Given the description of an element on the screen output the (x, y) to click on. 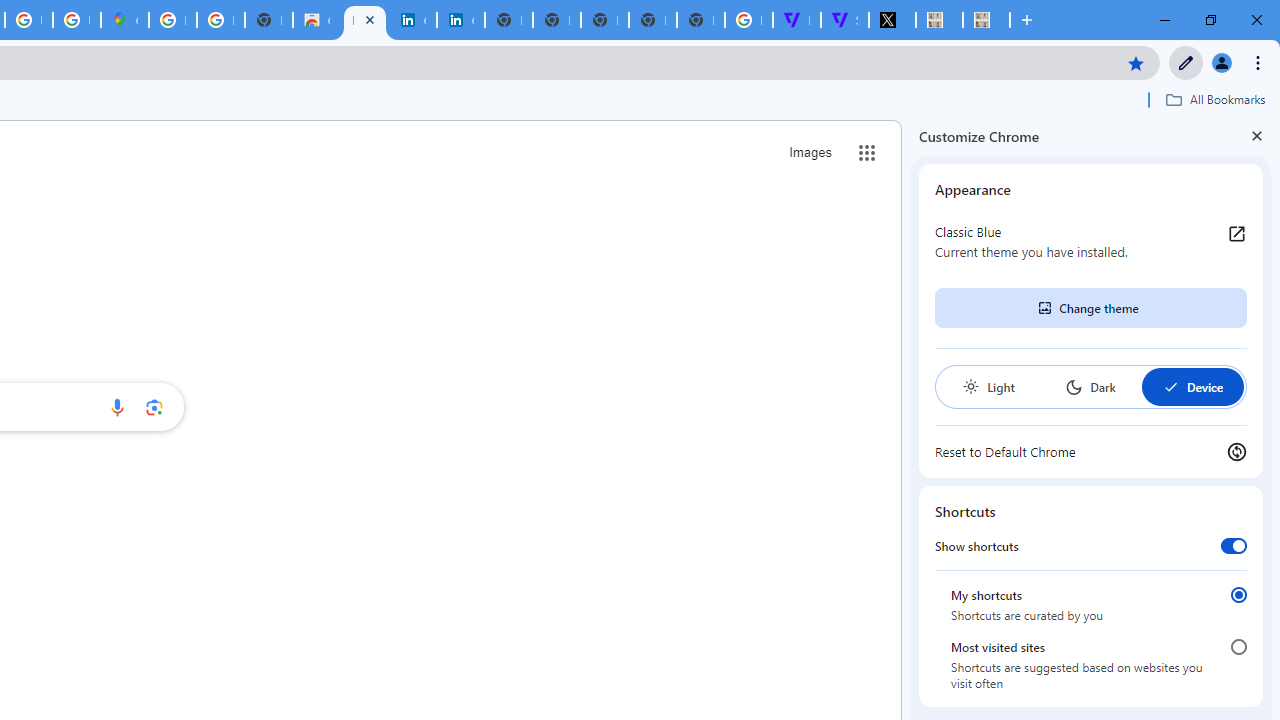
New Tab (700, 20)
Classic Blue Current theme you have installed. (1091, 241)
Dark (1090, 386)
Cookie Policy | LinkedIn (412, 20)
Reset to Default Chrome (1091, 452)
Light (988, 386)
Cookie Policy | LinkedIn (460, 20)
AutomationID: baseSvg (1170, 386)
MILEY CYRUS. (939, 20)
